Given the description of an element on the screen output the (x, y) to click on. 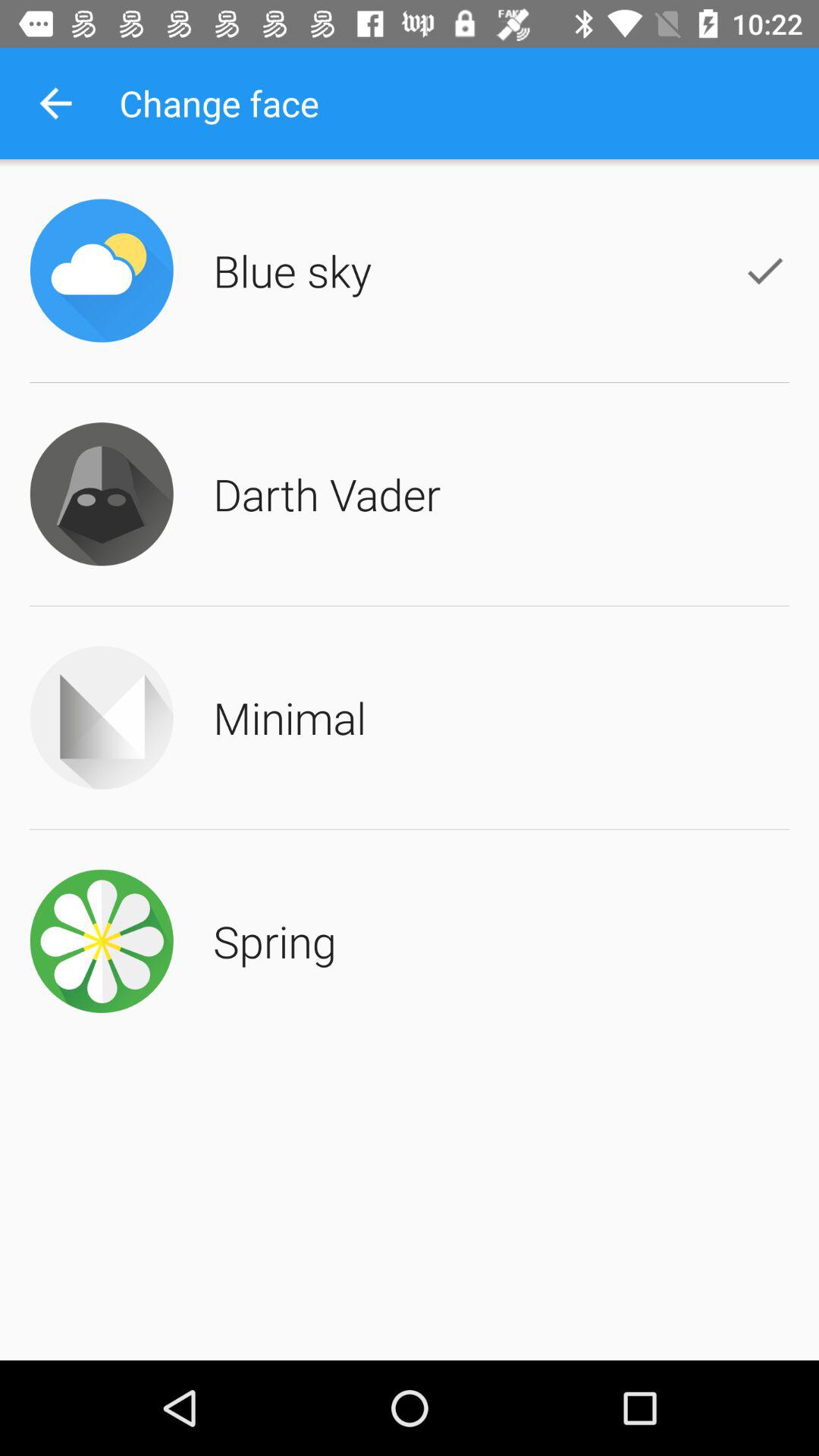
turn off the item above spring (289, 717)
